Given the description of an element on the screen output the (x, y) to click on. 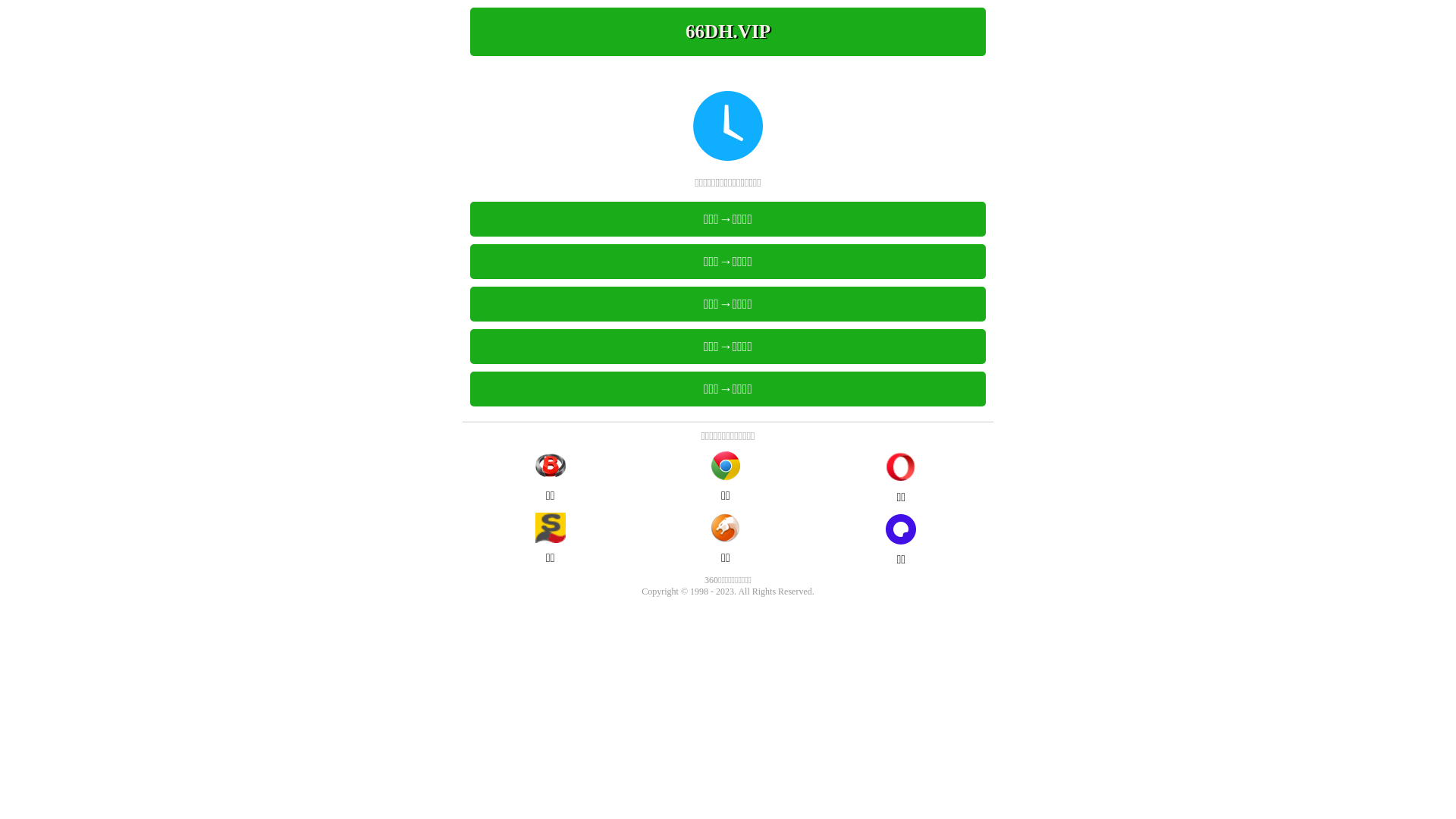
66DH.VIP Element type: text (727, 31)
